Given the description of an element on the screen output the (x, y) to click on. 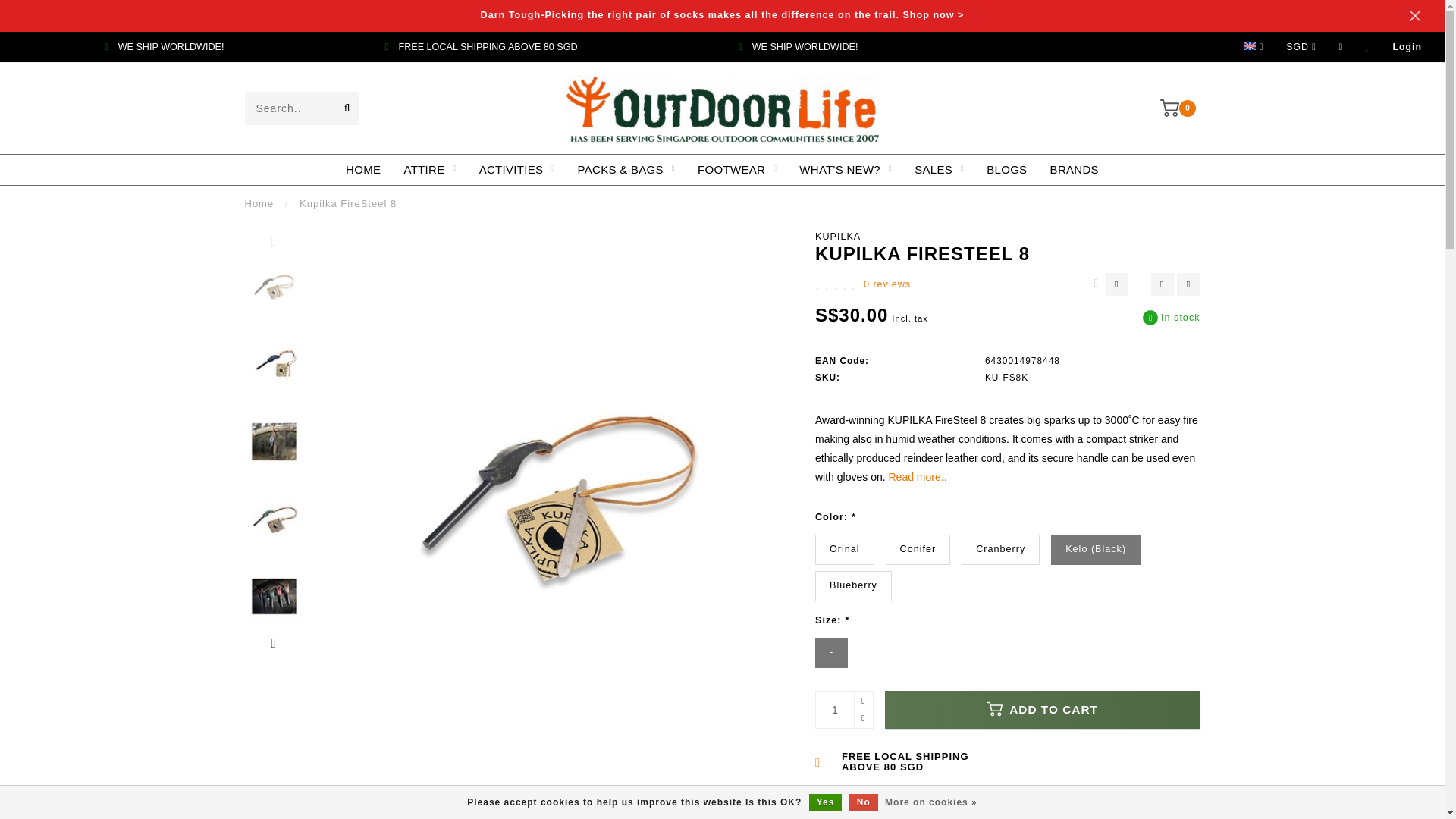
Login (1406, 46)
1 (843, 709)
SGD (1300, 46)
Add to wishlist (1162, 283)
0 (1179, 106)
Home (258, 203)
HOME (363, 169)
ATTIRE (429, 169)
Add to comparison (1187, 283)
